Given the description of an element on the screen output the (x, y) to click on. 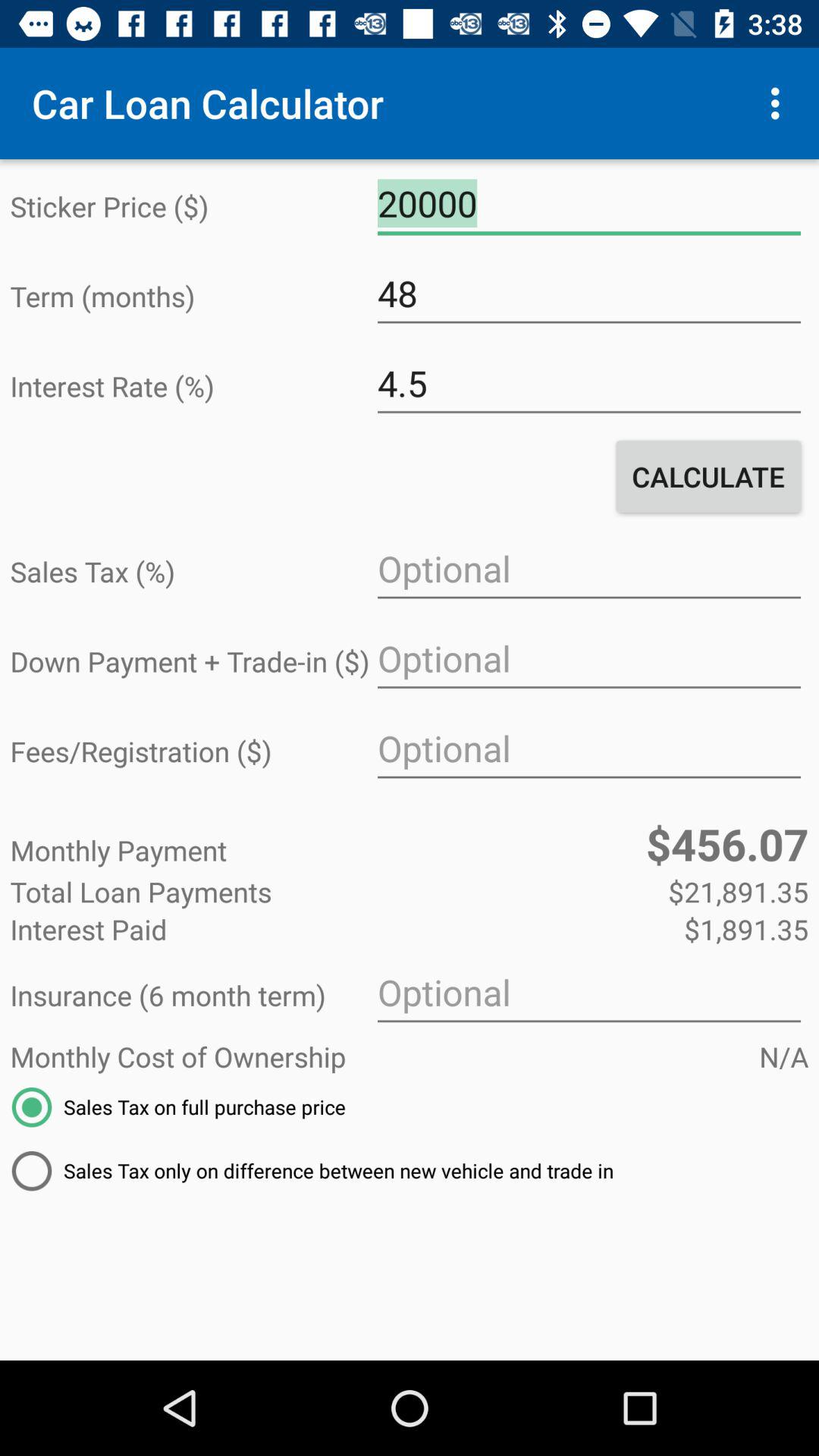
select the item to the right of fees/registration ($) item (588, 748)
